Given the description of an element on the screen output the (x, y) to click on. 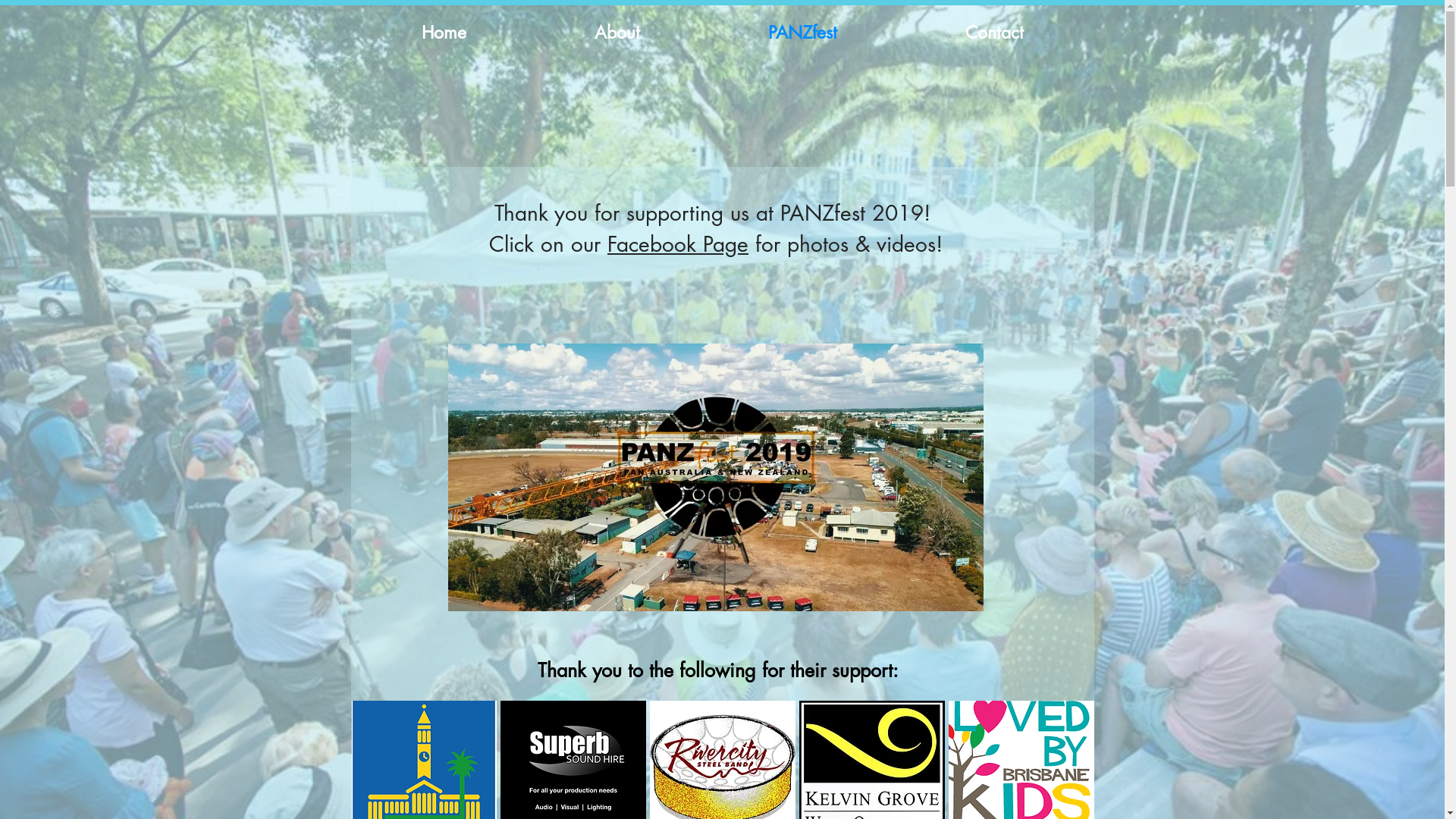
Contact Element type: text (993, 32)
PANZfest Element type: text (801, 32)
About Element type: text (617, 32)
Facebook Page Element type: text (677, 243)
Home Element type: text (443, 32)
